Given the description of an element on the screen output the (x, y) to click on. 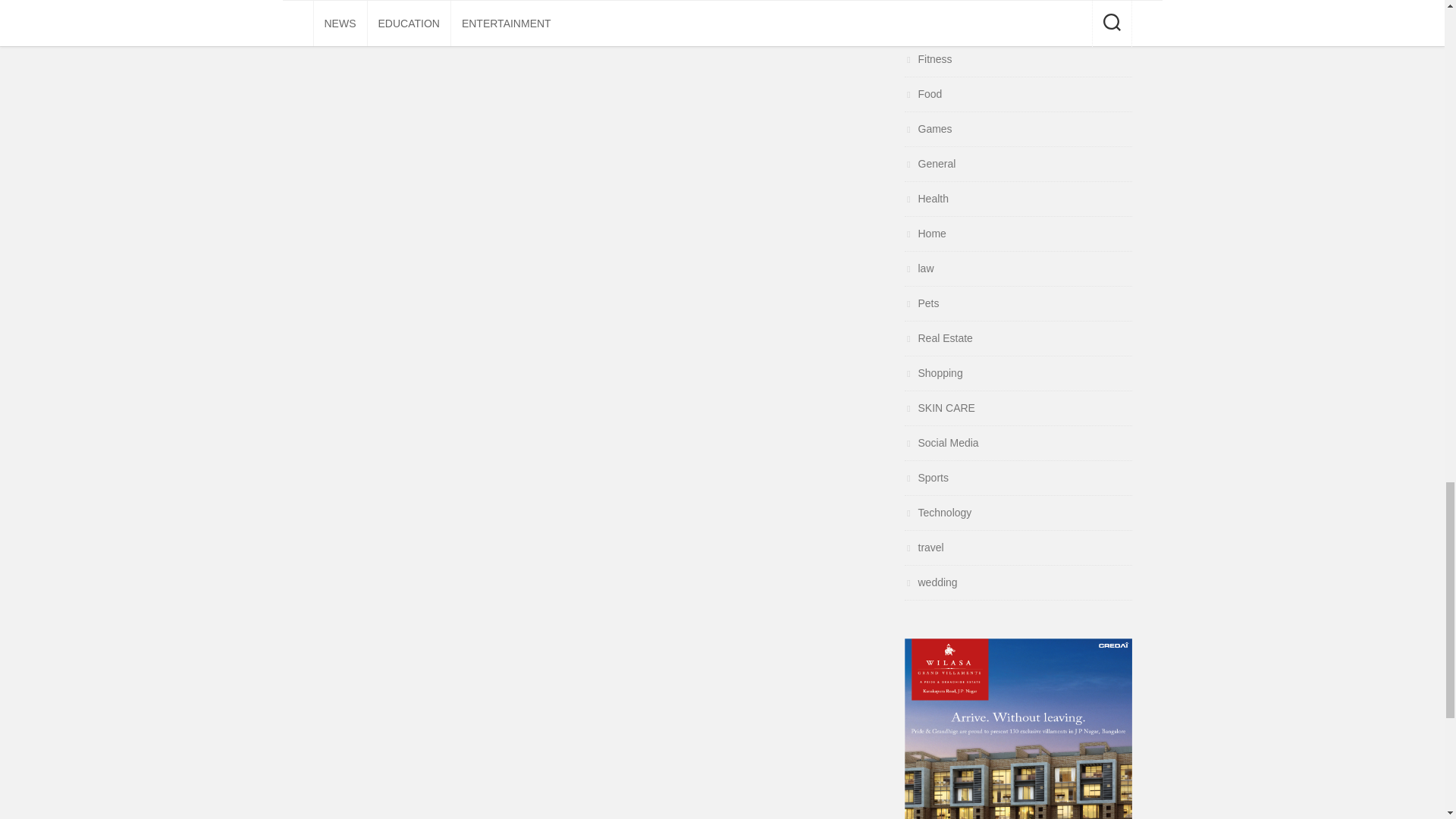
Games (928, 128)
General (929, 163)
Food (923, 93)
Fitness (928, 59)
Finance (929, 24)
